Given the description of an element on the screen output the (x, y) to click on. 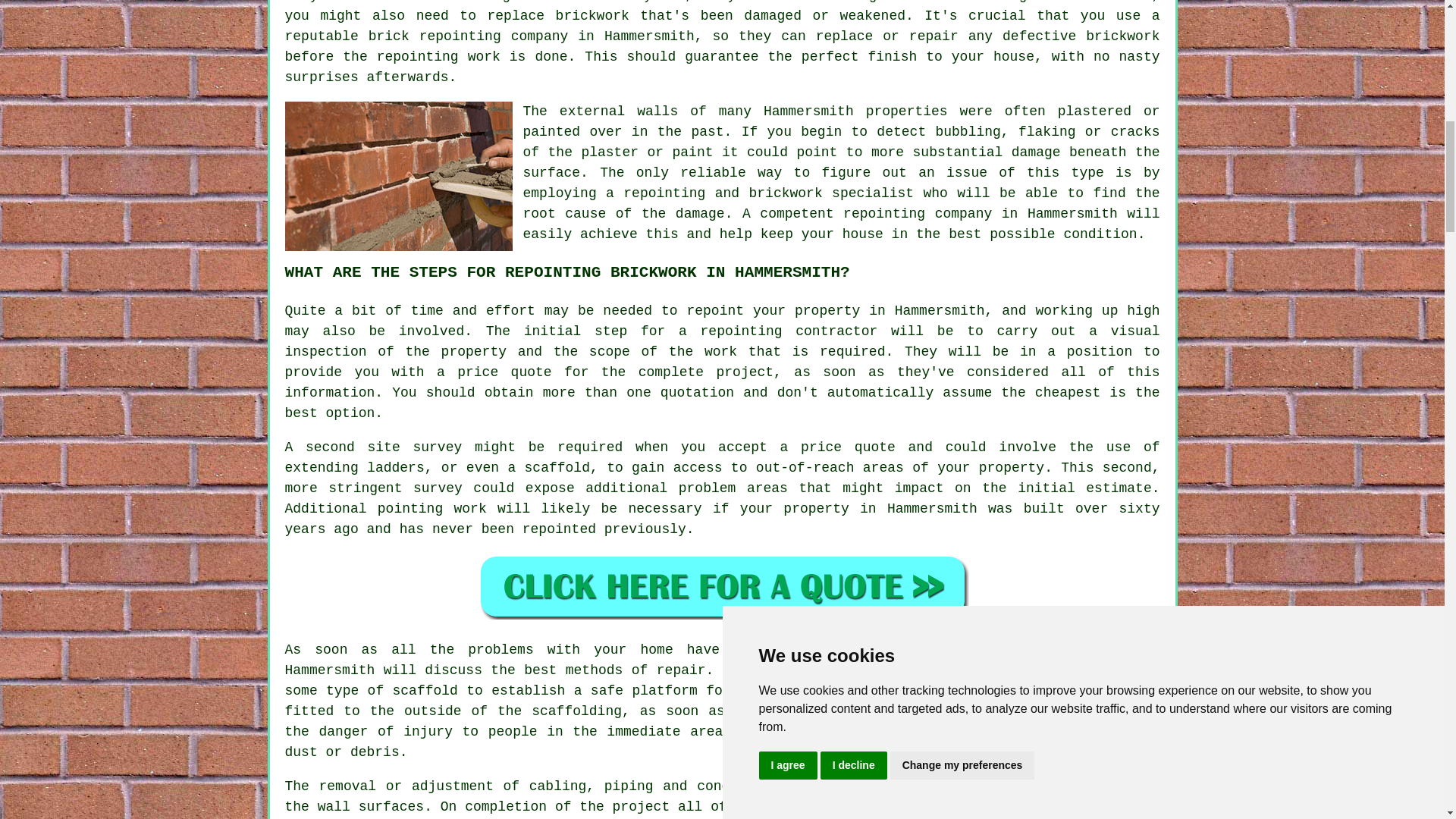
repointed (558, 529)
repointing company (917, 213)
Professional Brickwork Repointing Hammersmith (398, 175)
brick repointing (434, 36)
repoint (714, 310)
Quotes for Repointing Hammersmith (722, 586)
